Given the description of an element on the screen output the (x, y) to click on. 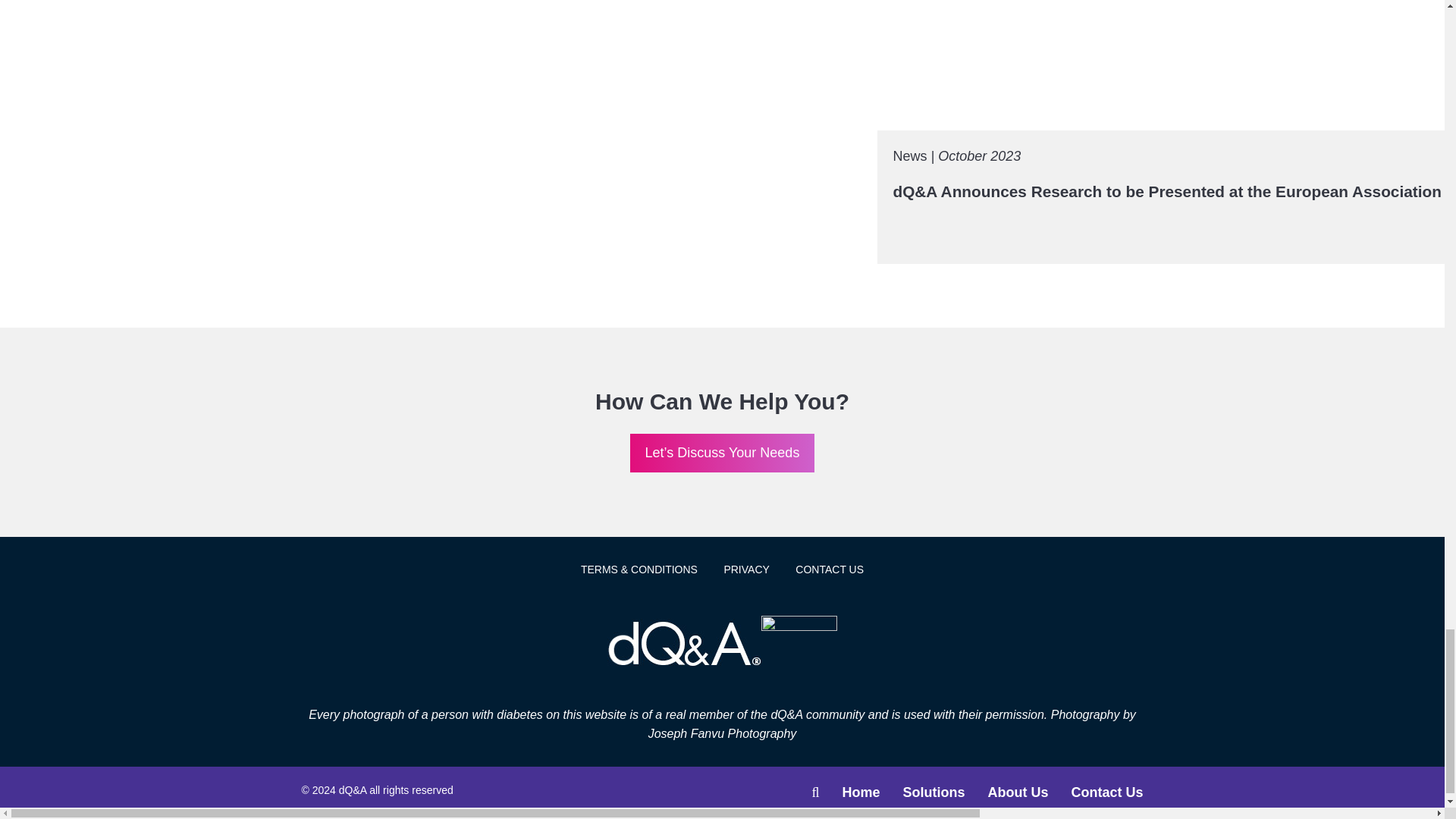
PRIVACY (745, 569)
Contact Us (1106, 792)
About Us (1017, 792)
Home (860, 792)
Solutions (932, 792)
CONTACT US (828, 569)
